Given the description of an element on the screen output the (x, y) to click on. 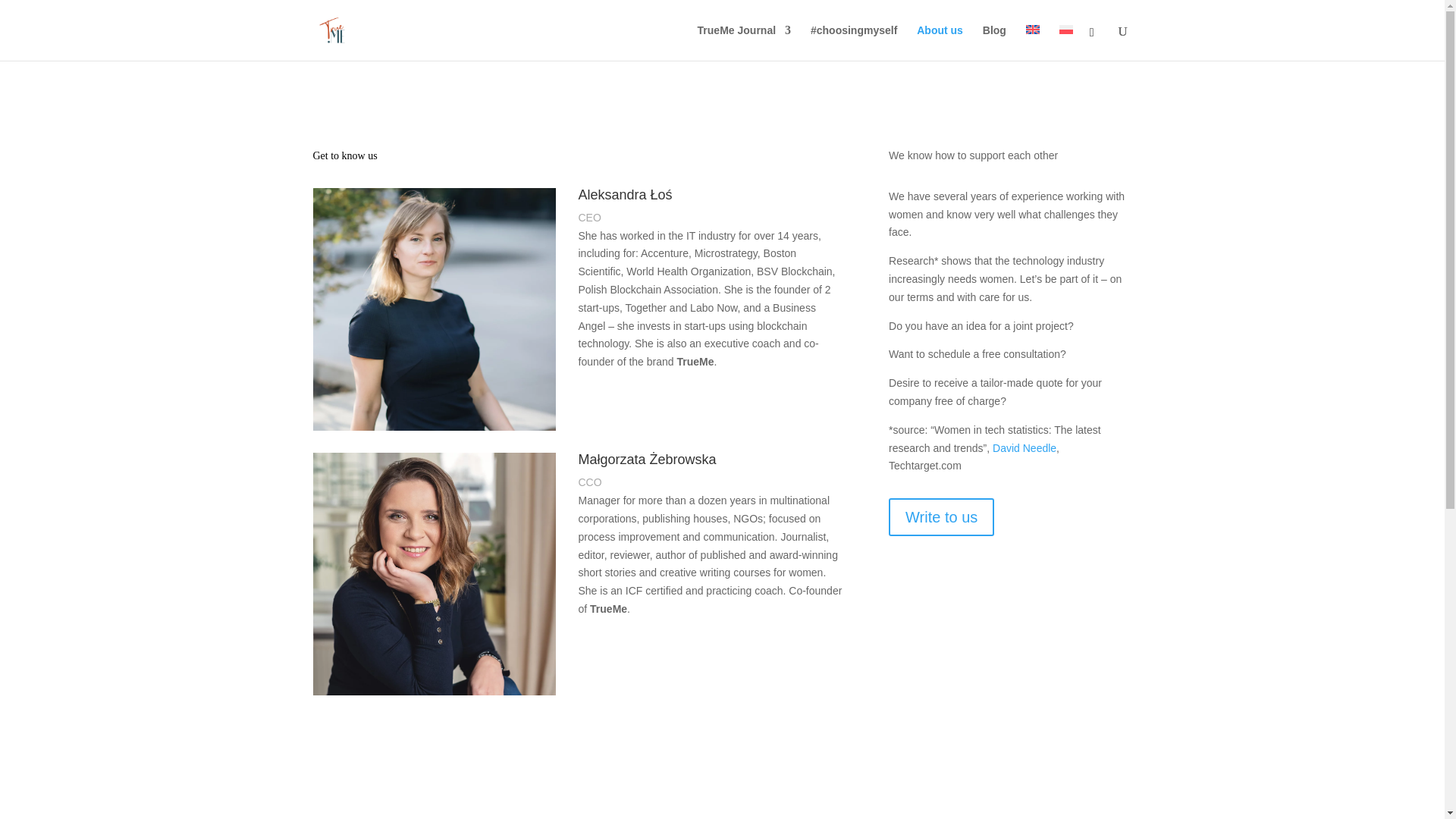
TrueMe Journal (743, 42)
David Needle (1024, 448)
About us (939, 42)
Write to us (941, 516)
